Given the description of an element on the screen output the (x, y) to click on. 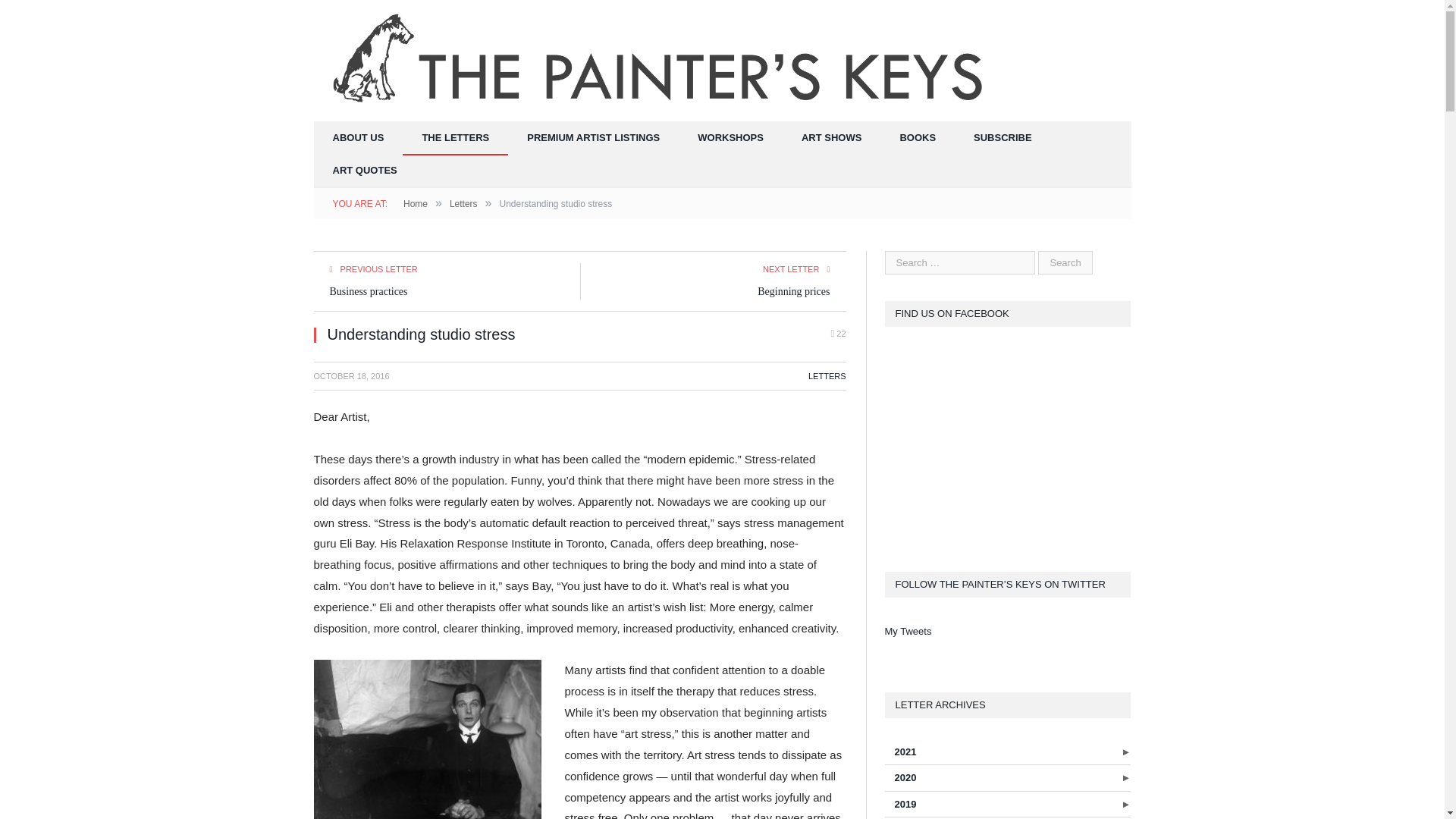
The Painters Keys (661, 58)
PREMIUM ARTIST LISTINGS (593, 138)
ART QUOTES (365, 170)
Search (1065, 262)
ABOUT US (358, 138)
LETTERS (826, 375)
2016-10-18 (352, 375)
Business practices (368, 291)
Beginning prices (793, 291)
Search (1065, 262)
